Given the description of an element on the screen output the (x, y) to click on. 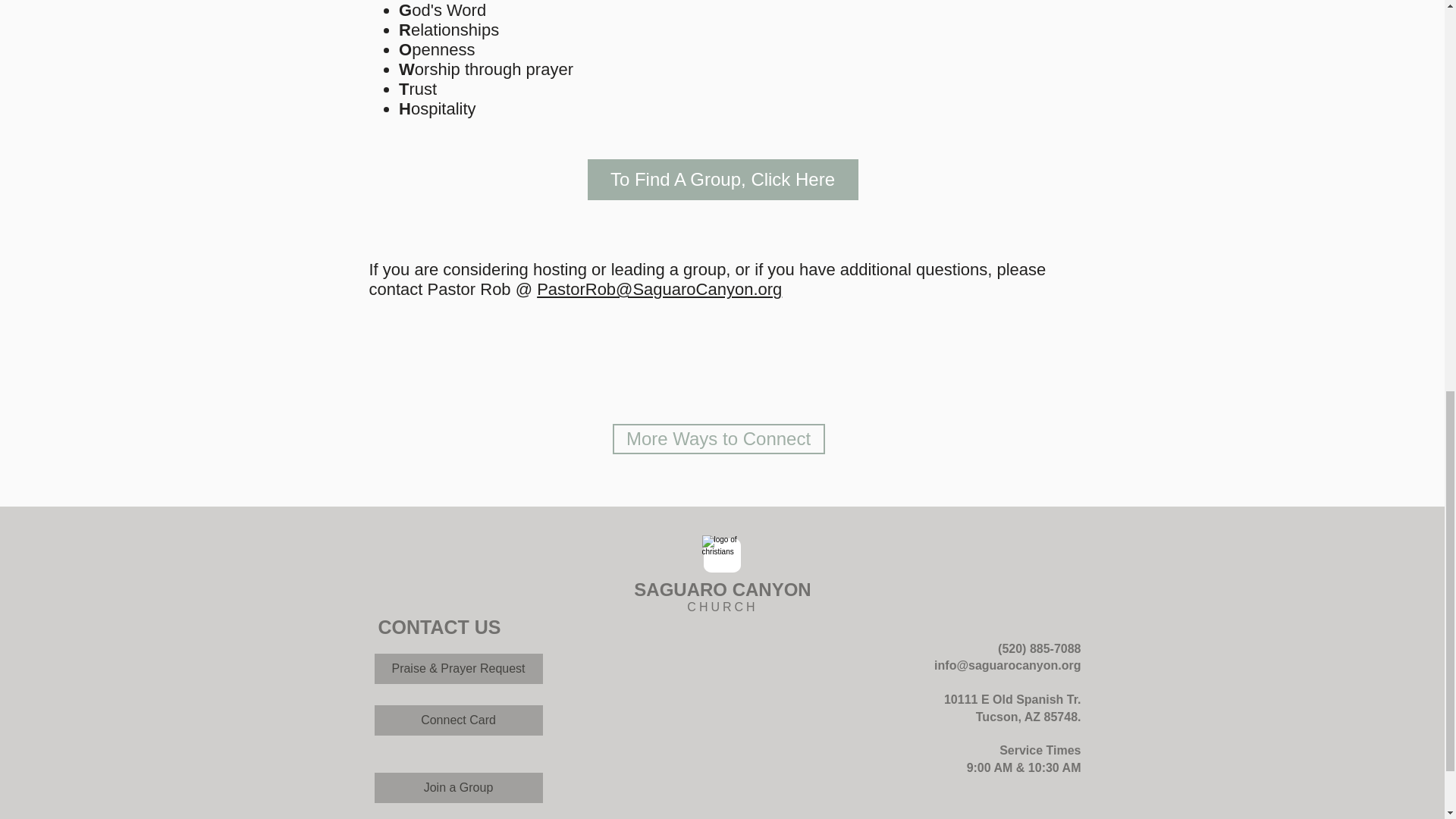
To Find A Group, Click Here (721, 178)
Connect Card (458, 720)
More Ways to Connect (718, 439)
Join a Group (458, 788)
